Given the description of an element on the screen output the (x, y) to click on. 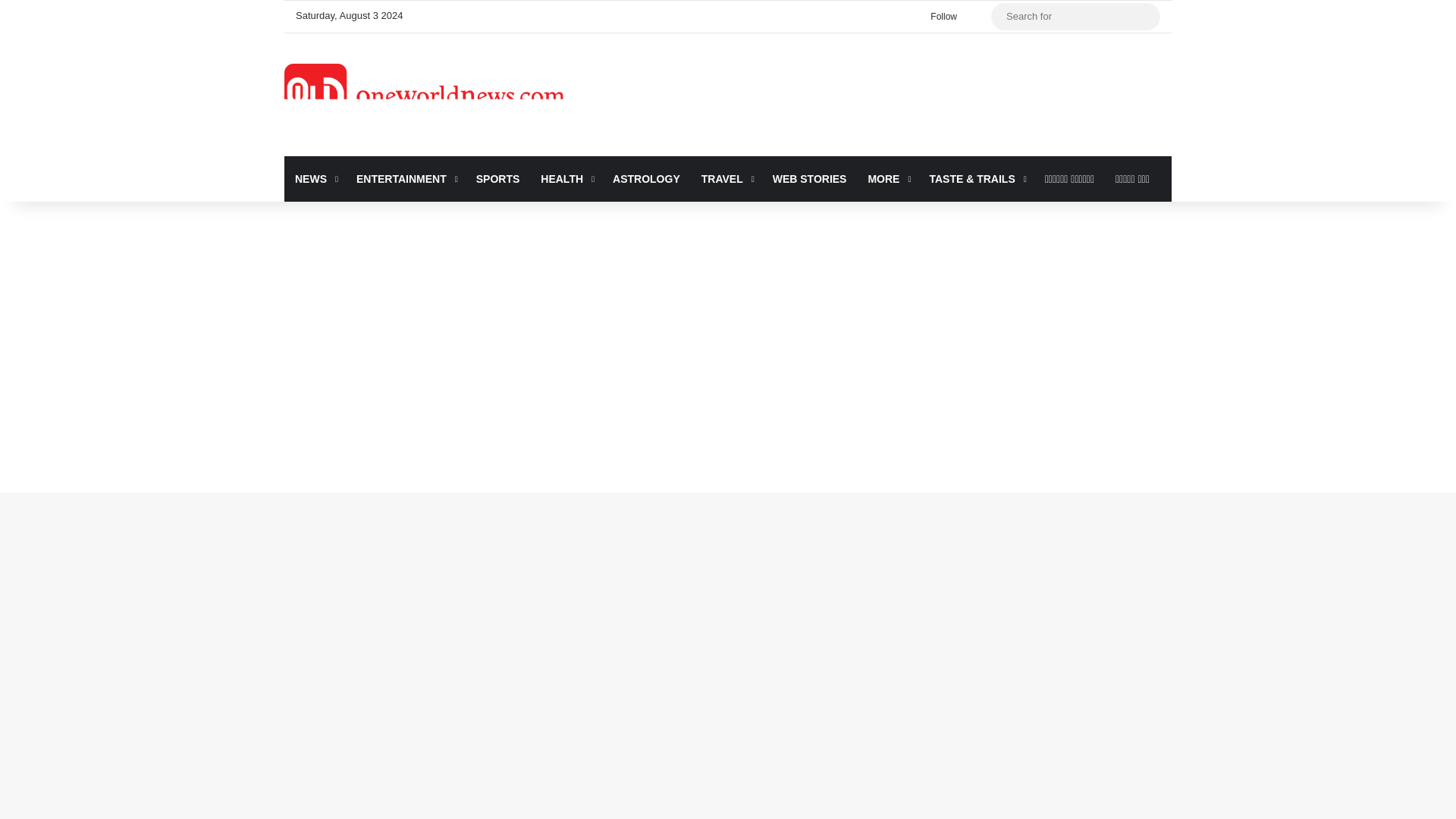
NEWS (314, 178)
Follow (941, 16)
HEALTH (565, 178)
TRAVEL (725, 178)
SPORTS (498, 178)
Search for (1144, 16)
ASTROLOGY (646, 178)
ENTERTAINMENT (405, 178)
One World News (423, 94)
Search for (1075, 16)
